Given the description of an element on the screen output the (x, y) to click on. 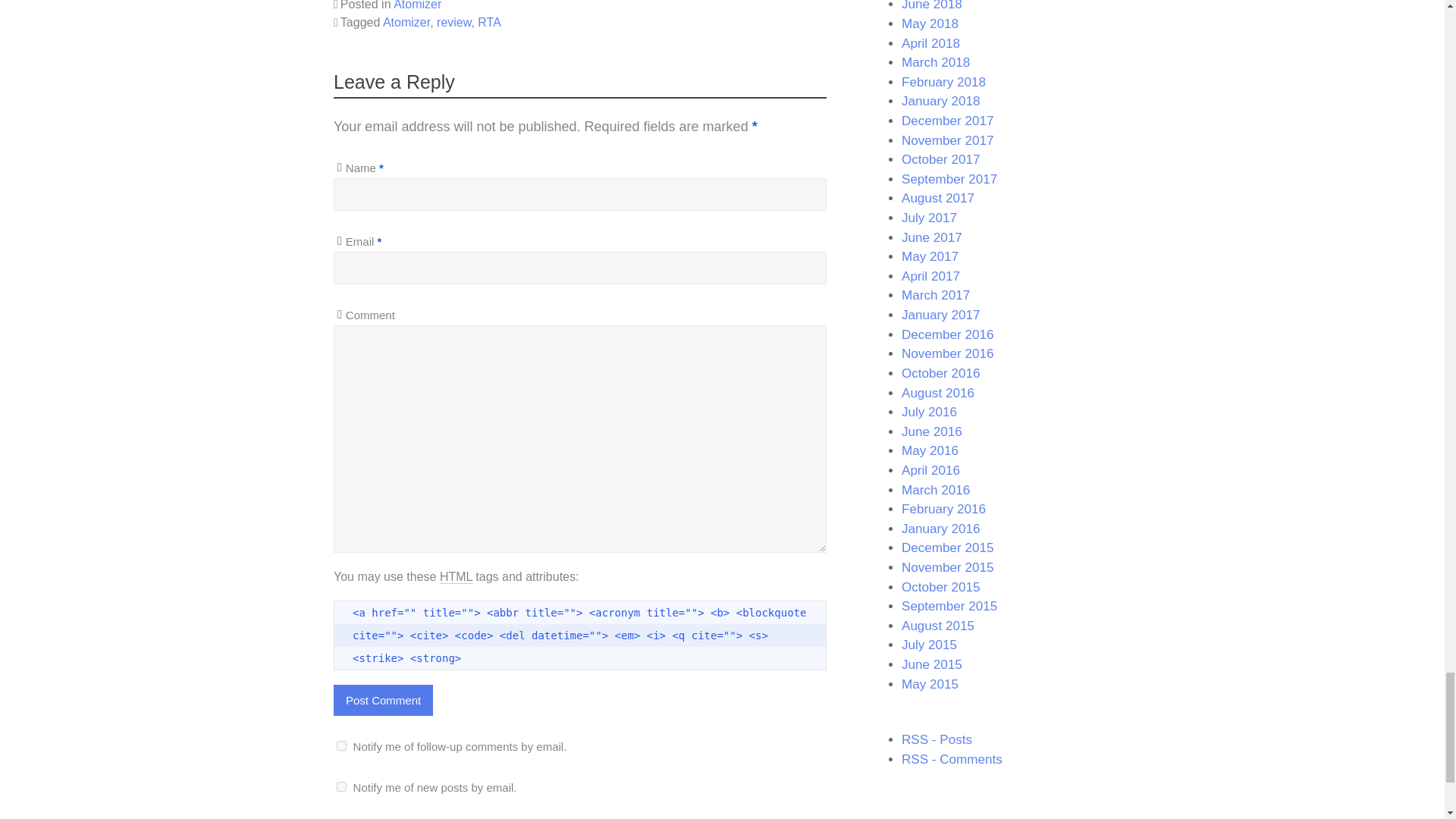
Post Comment (382, 699)
Atomizer (405, 21)
subscribe (341, 746)
subscribe (341, 786)
review (453, 21)
Atomizer (417, 5)
